Given the description of an element on the screen output the (x, y) to click on. 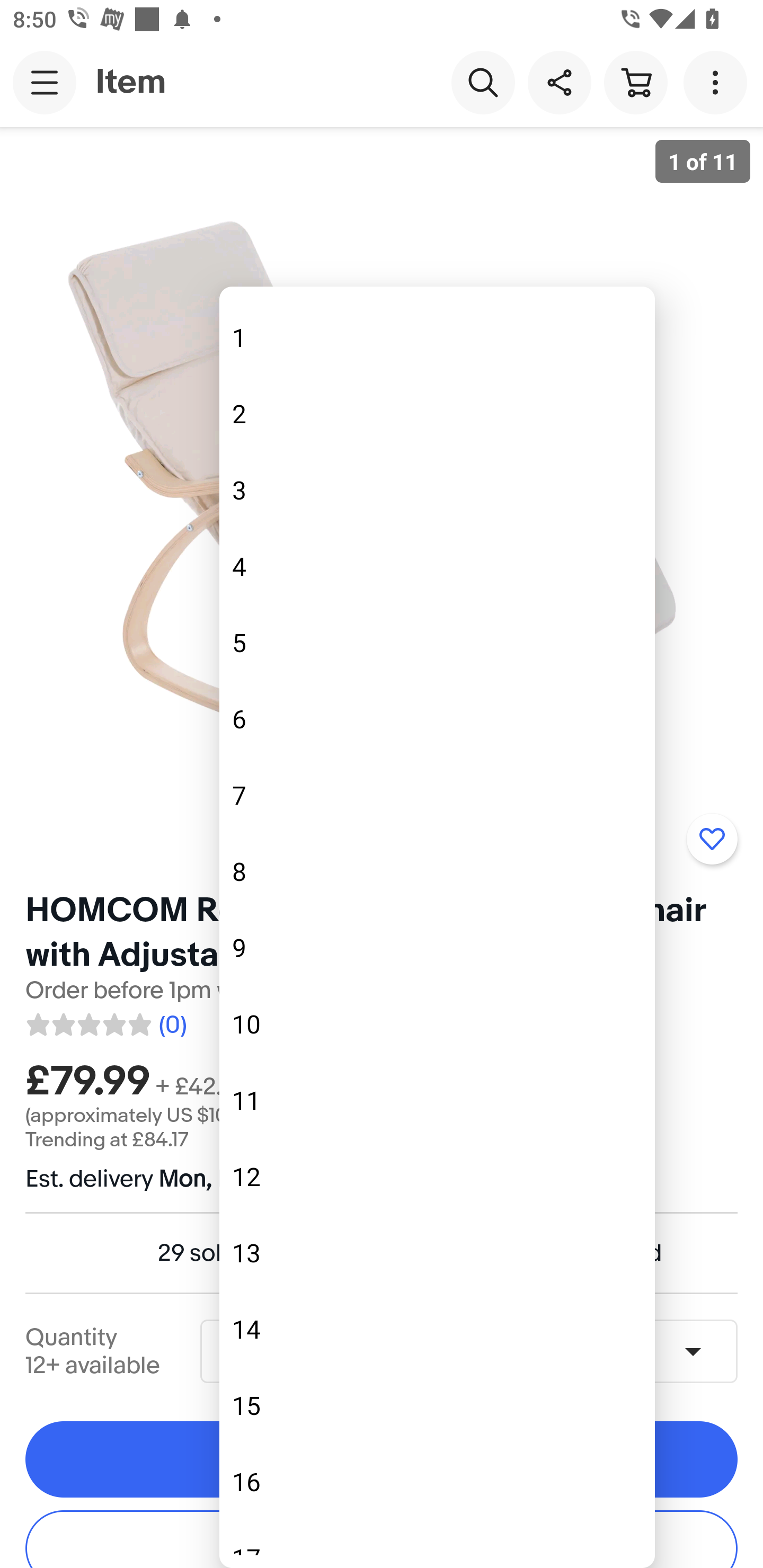
1 (436, 337)
2 (436, 413)
3 (436, 489)
4 (436, 565)
5 (436, 641)
6 (436, 718)
7 (436, 794)
8 (436, 870)
9 (436, 947)
10 (436, 1023)
11 (436, 1099)
12 (436, 1176)
13 (436, 1252)
14 (436, 1328)
15 (436, 1405)
16 (436, 1481)
